Given the description of an element on the screen output the (x, y) to click on. 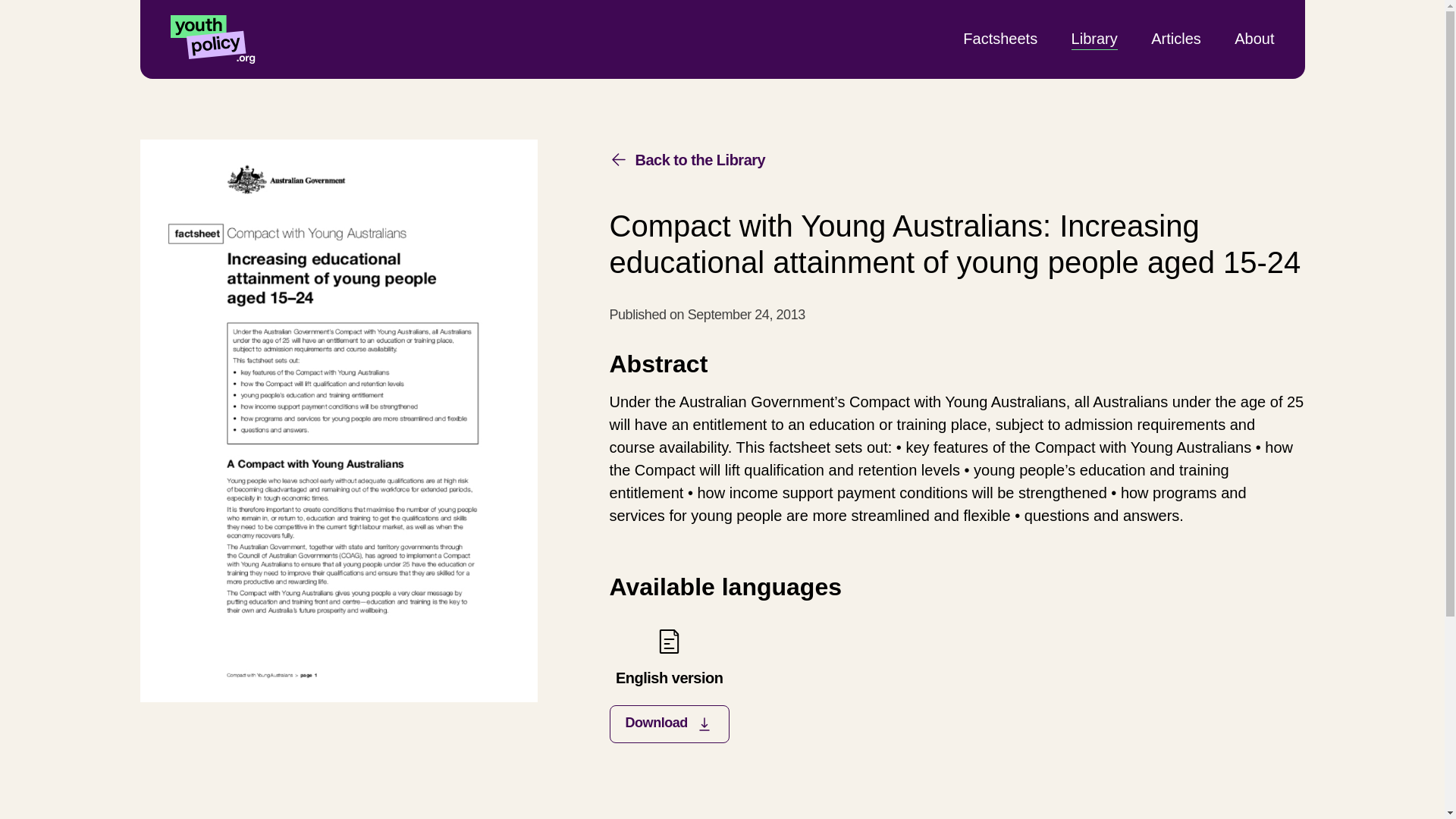
Factsheets (999, 38)
Library (1094, 38)
Articles (1176, 38)
Back to the Library (687, 159)
About (1254, 38)
